Given the description of an element on the screen output the (x, y) to click on. 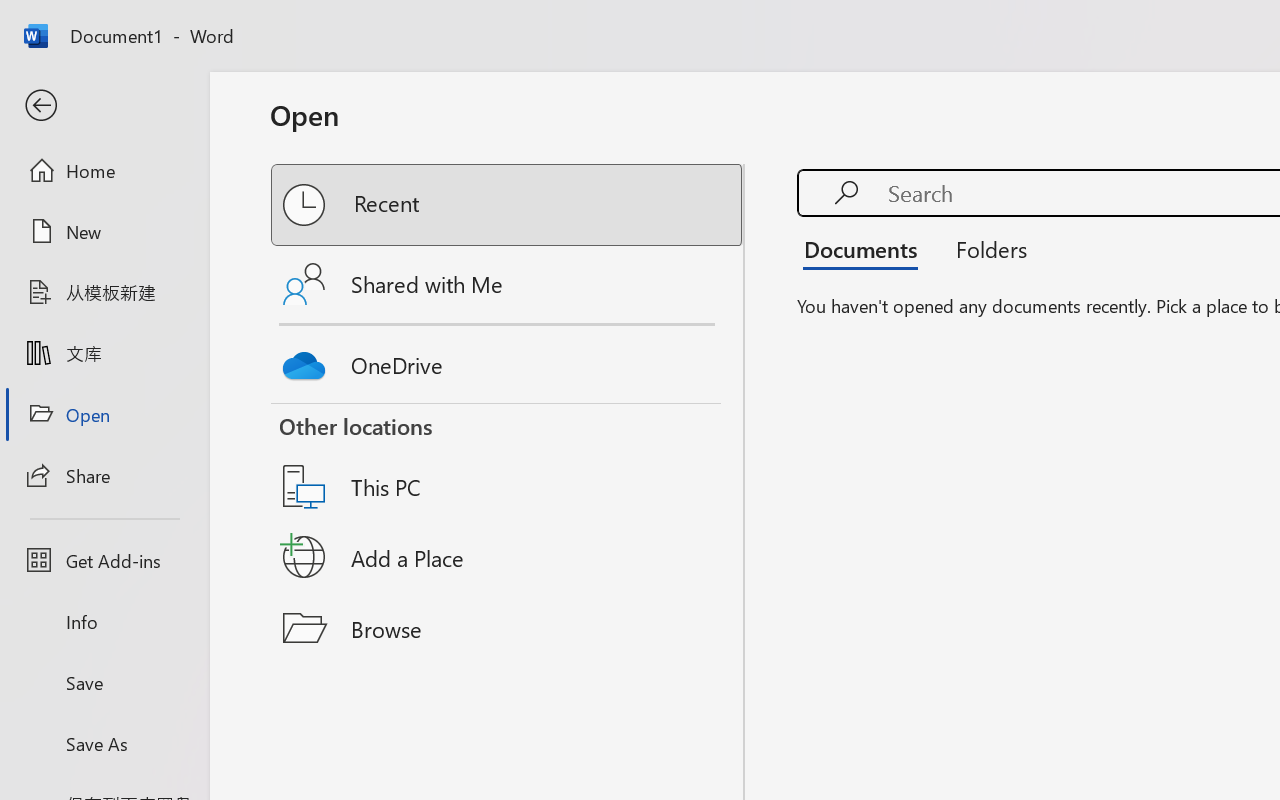
Add a Place (507, 557)
New (104, 231)
This PC (507, 461)
Get Add-ins (104, 560)
OneDrive (507, 359)
